Given the description of an element on the screen output the (x, y) to click on. 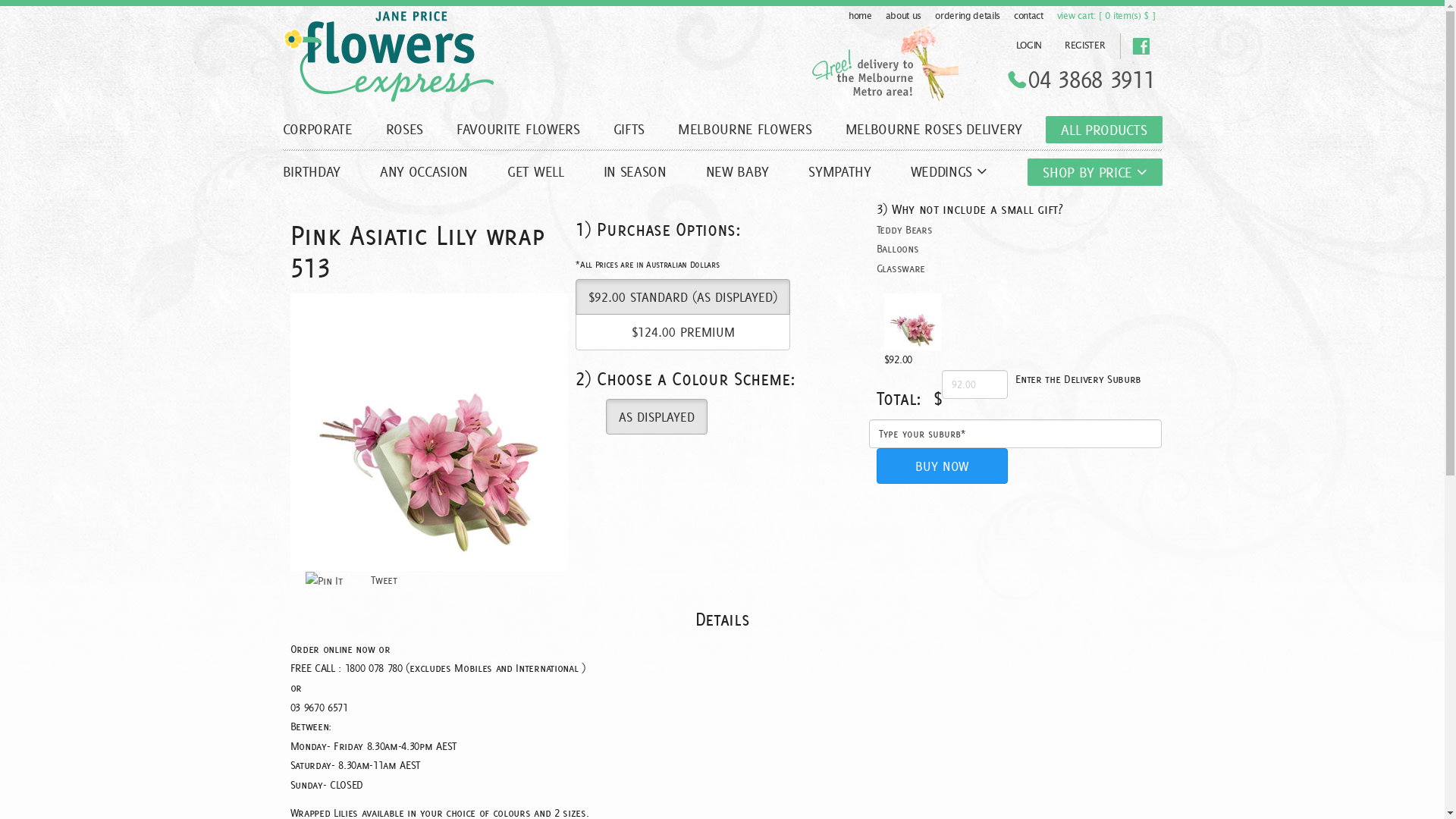
ANY OCCASION Element type: text (423, 171)
04 3868 3911 Element type: text (1091, 79)
MELBOURNE FLOWERS Element type: text (744, 128)
GIFTS Element type: text (628, 128)
SHOP BY PRICE Element type: text (1094, 171)
$124.00 PREMIUM Element type: text (682, 331)
SYMPATHY Element type: text (839, 171)
NEW BABY Element type: text (737, 171)
ROSES Element type: text (404, 128)
REGISTER Element type: text (1084, 45)
contact Element type: text (1028, 15)
Pin It Element type: hover (323, 581)
MELBOURNE ROSES DELIVERY Element type: text (933, 128)
Glassware Element type: text (900, 268)
about us Element type: text (903, 15)
$92.00 STANDARD (AS DISPLAYED) Element type: text (682, 296)
BIRTHDAY Element type: text (320, 171)
CORPORATE Element type: text (325, 128)
LOGIN Element type: text (1028, 45)
ordering details Element type: text (967, 15)
view cart: [ 0 item(s) $ ] Element type: text (1106, 15)
ALL PRODUCTS Element type: text (1103, 129)
FAVOURITE FLOWERS Element type: text (517, 128)
Balloons Element type: text (897, 248)
Tweet Element type: text (383, 579)
GET WELL Element type: text (535, 171)
IN SEASON Element type: text (634, 171)
home Element type: text (859, 15)
BUY NOW Element type: text (941, 465)
Teddy Bears Element type: text (903, 229)
WEDDINGS Element type: text (949, 171)
facebook Element type: text (1140, 46)
